Given the description of an element on the screen output the (x, y) to click on. 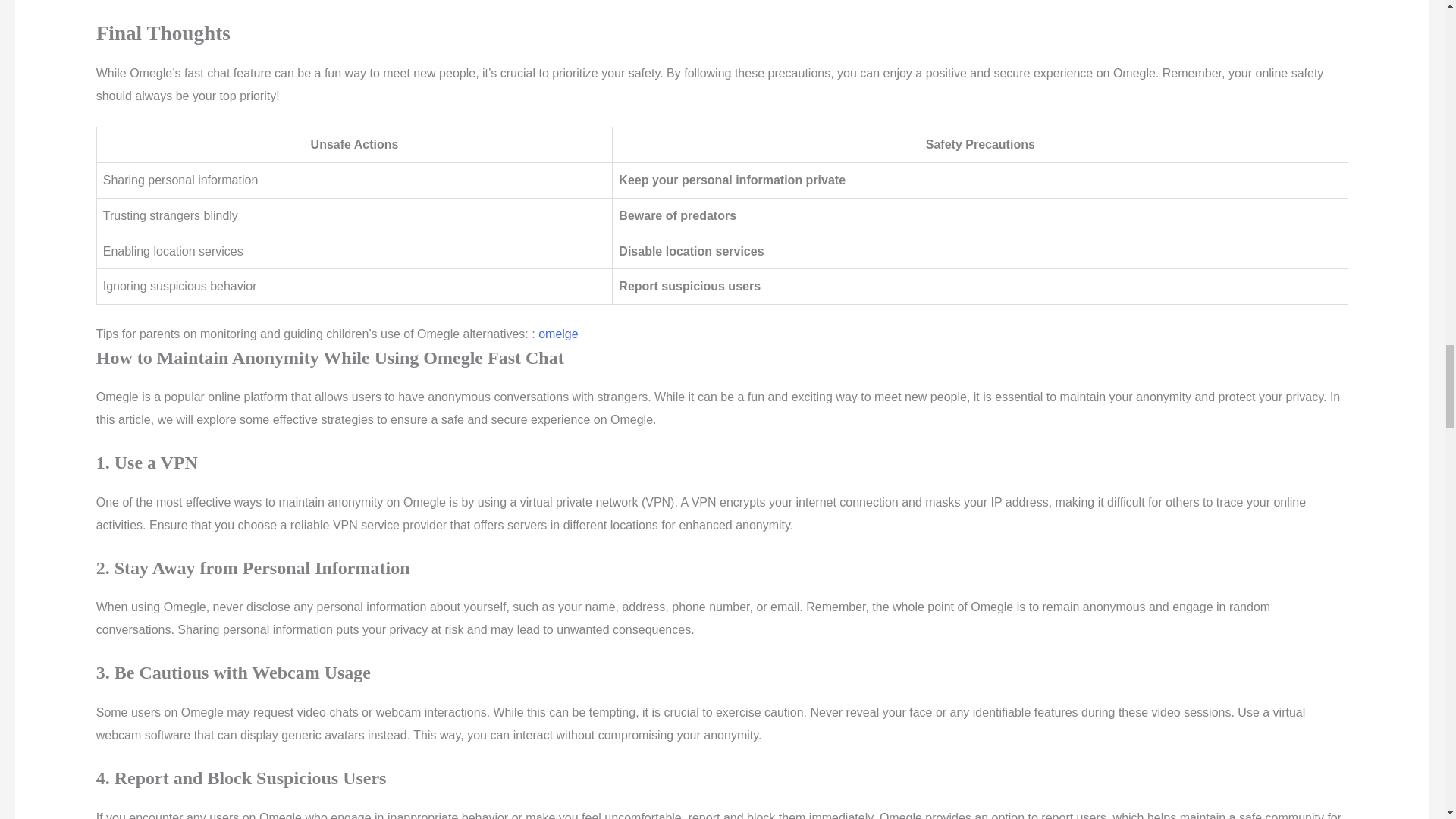
omelge (558, 333)
